Given the description of an element on the screen output the (x, y) to click on. 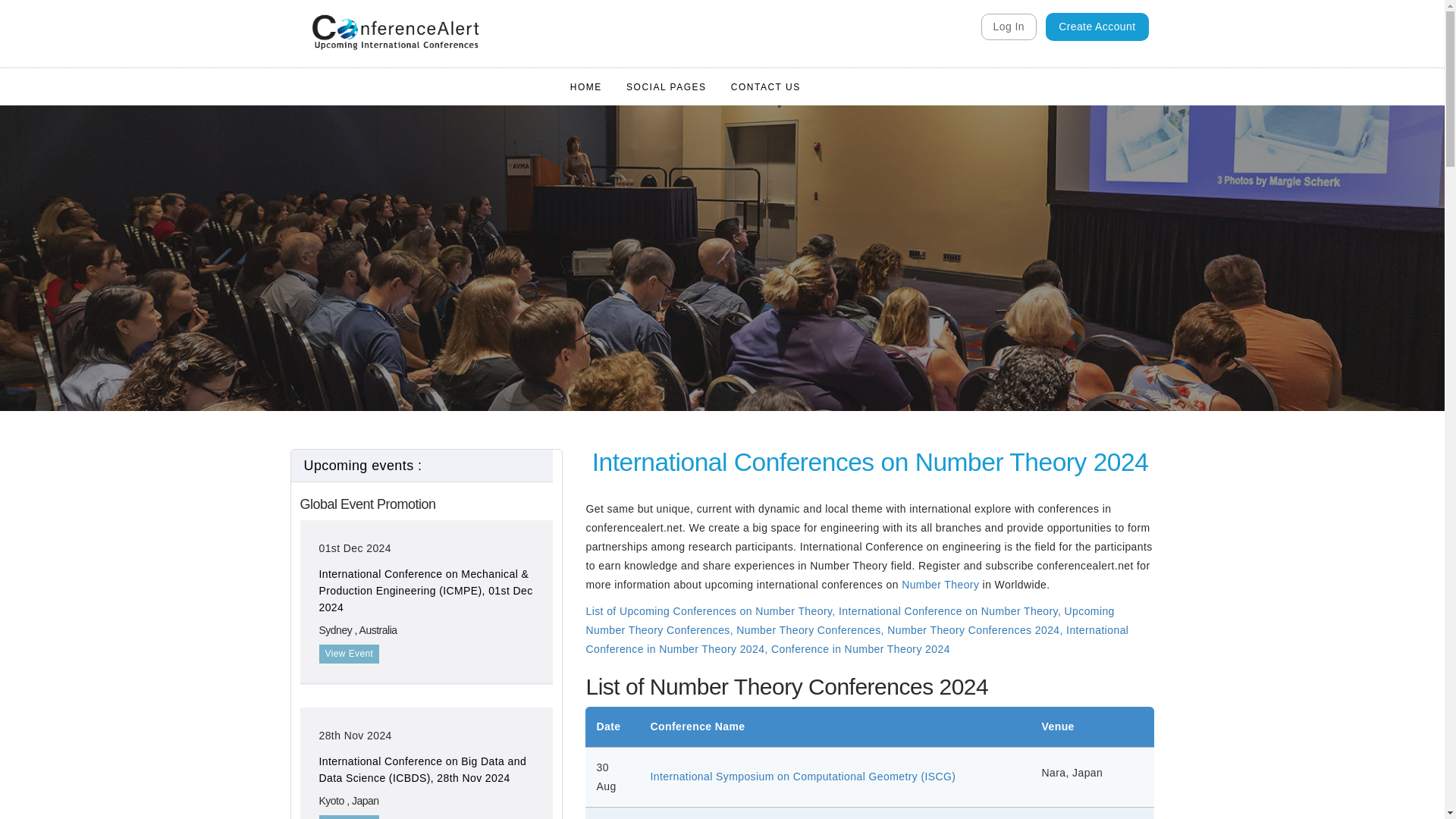
HOME (585, 86)
International Conference in Number Theory 2024, (856, 639)
View Event (348, 816)
Number Theory Conferences, (811, 630)
Number Theory (939, 584)
List of Upcoming Conferences on Number Theory, (709, 611)
Log In (1008, 26)
CONTACT US (765, 86)
Create Account (1096, 26)
HOME SOCIAL PAGES CONTACT US (684, 86)
Conference in Number Theory 2024 (860, 648)
SOCIAL PAGES (665, 86)
International Conference on Number Theory, (951, 611)
Upcoming Number Theory Conferences, (849, 620)
View Event (348, 653)
